Given the description of an element on the screen output the (x, y) to click on. 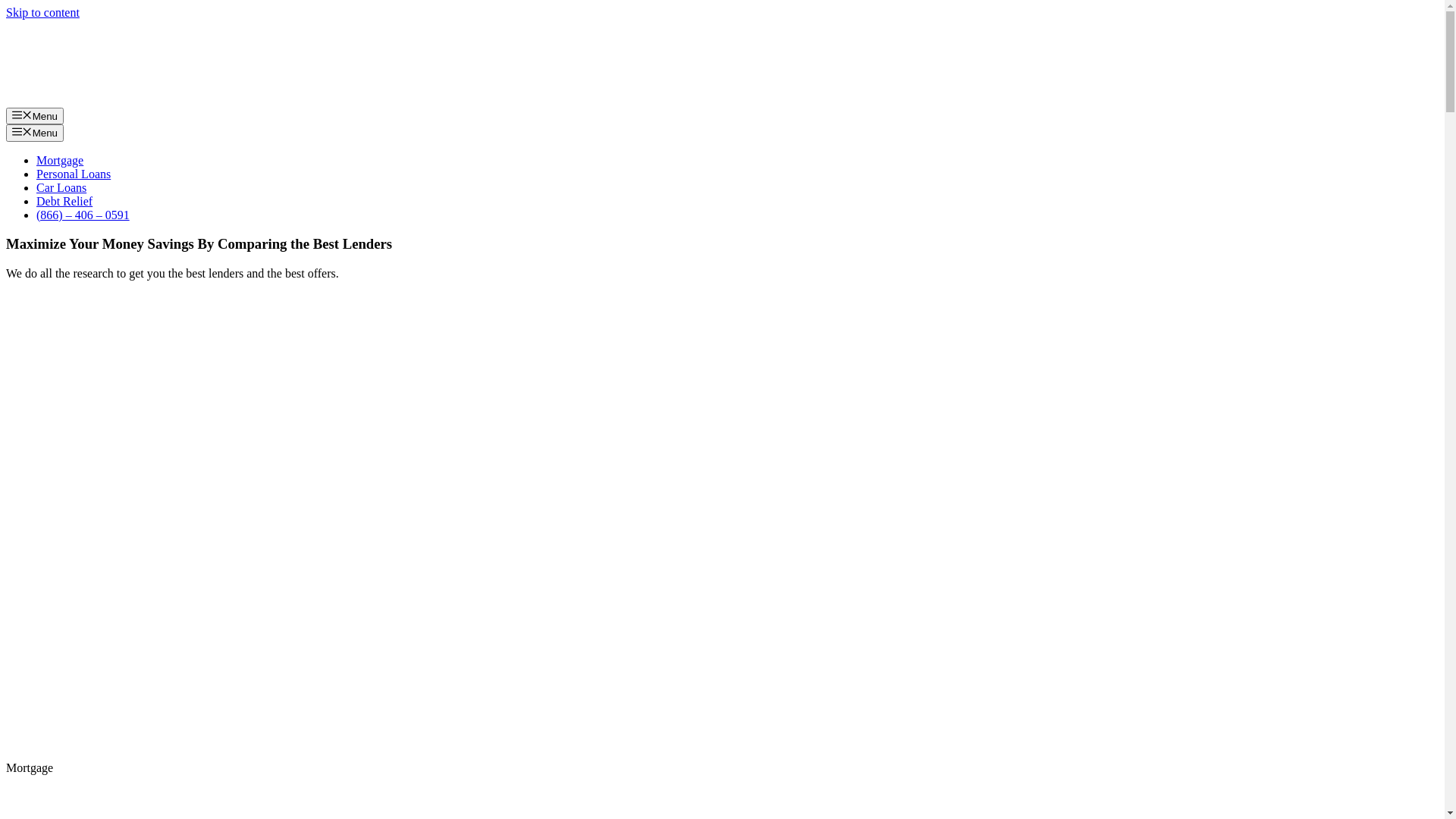
Mortgage Element type: text (59, 159)
mortgage Element type: hover (149, 689)
Menu Element type: text (34, 115)
Menu Element type: text (34, 132)
Personal Loans Element type: text (73, 173)
Car Loans Element type: text (61, 187)
Debt Relief Element type: text (64, 200)
Skip to content Element type: text (42, 12)
